Given the description of an element on the screen output the (x, y) to click on. 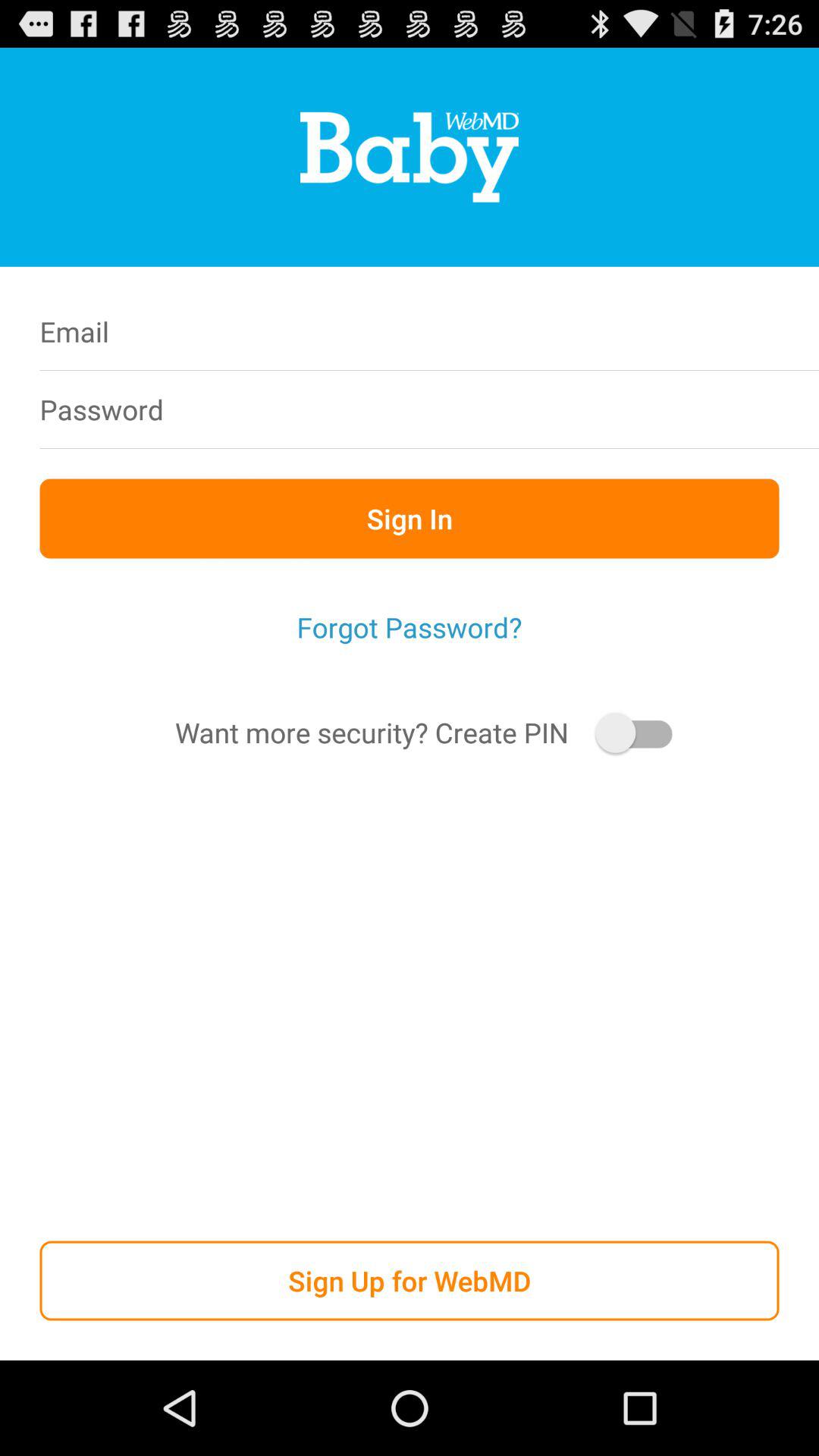
turn off sign in item (409, 518)
